Given the description of an element on the screen output the (x, y) to click on. 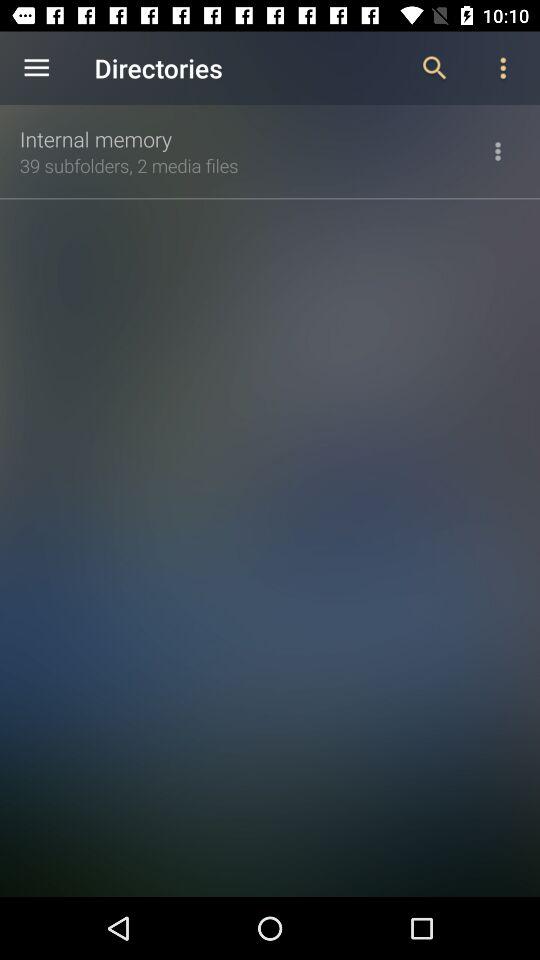
tap the item above the internal memory (36, 68)
